Given the description of an element on the screen output the (x, y) to click on. 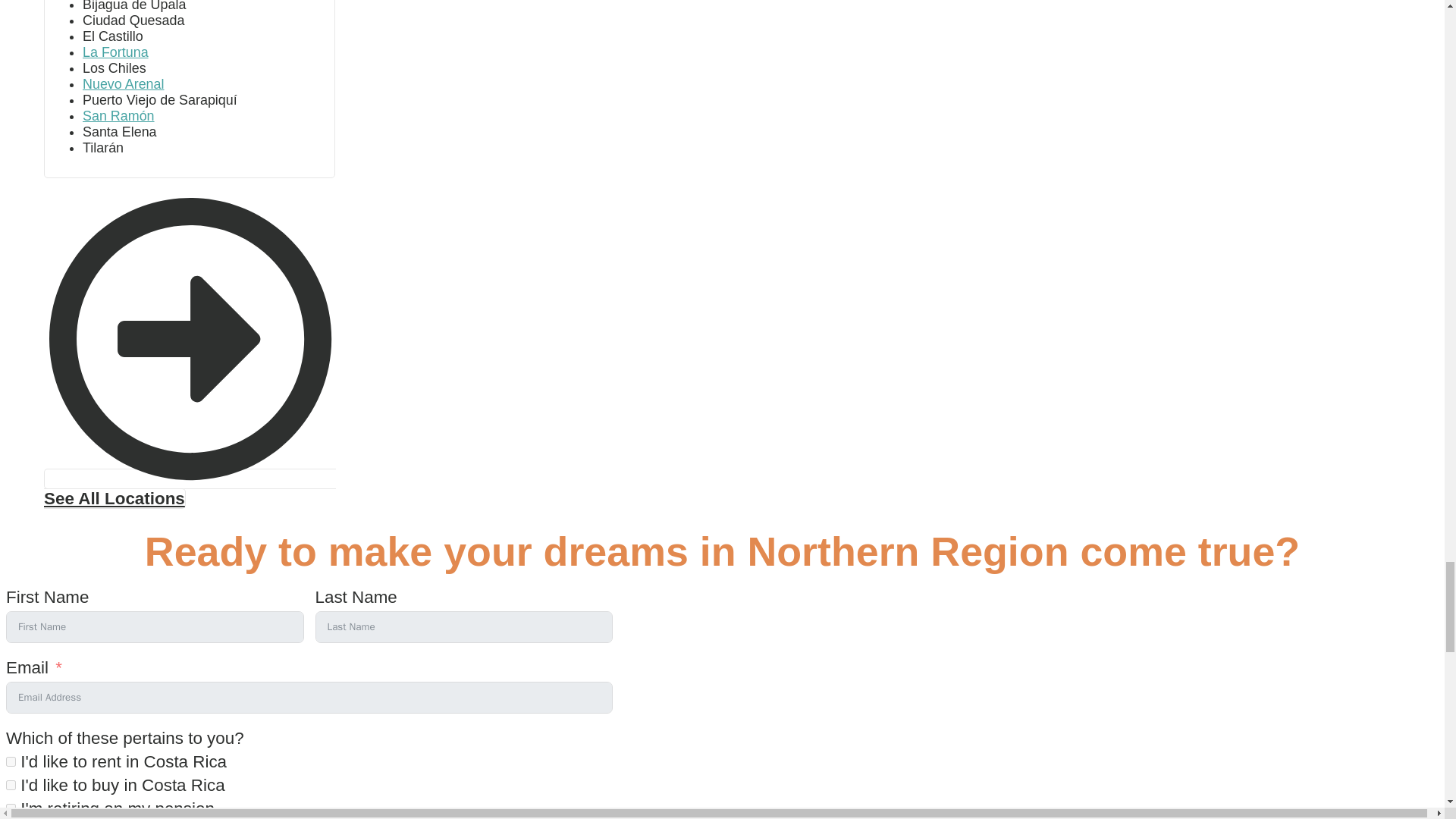
La Fortuna (115, 52)
I'd like to rent in Costa Rica (10, 761)
I'm retiring on my pension (10, 808)
See All Locations (189, 488)
Nuevo Arenal (123, 83)
I'd like to buy in Costa Rica (10, 785)
